Given the description of an element on the screen output the (x, y) to click on. 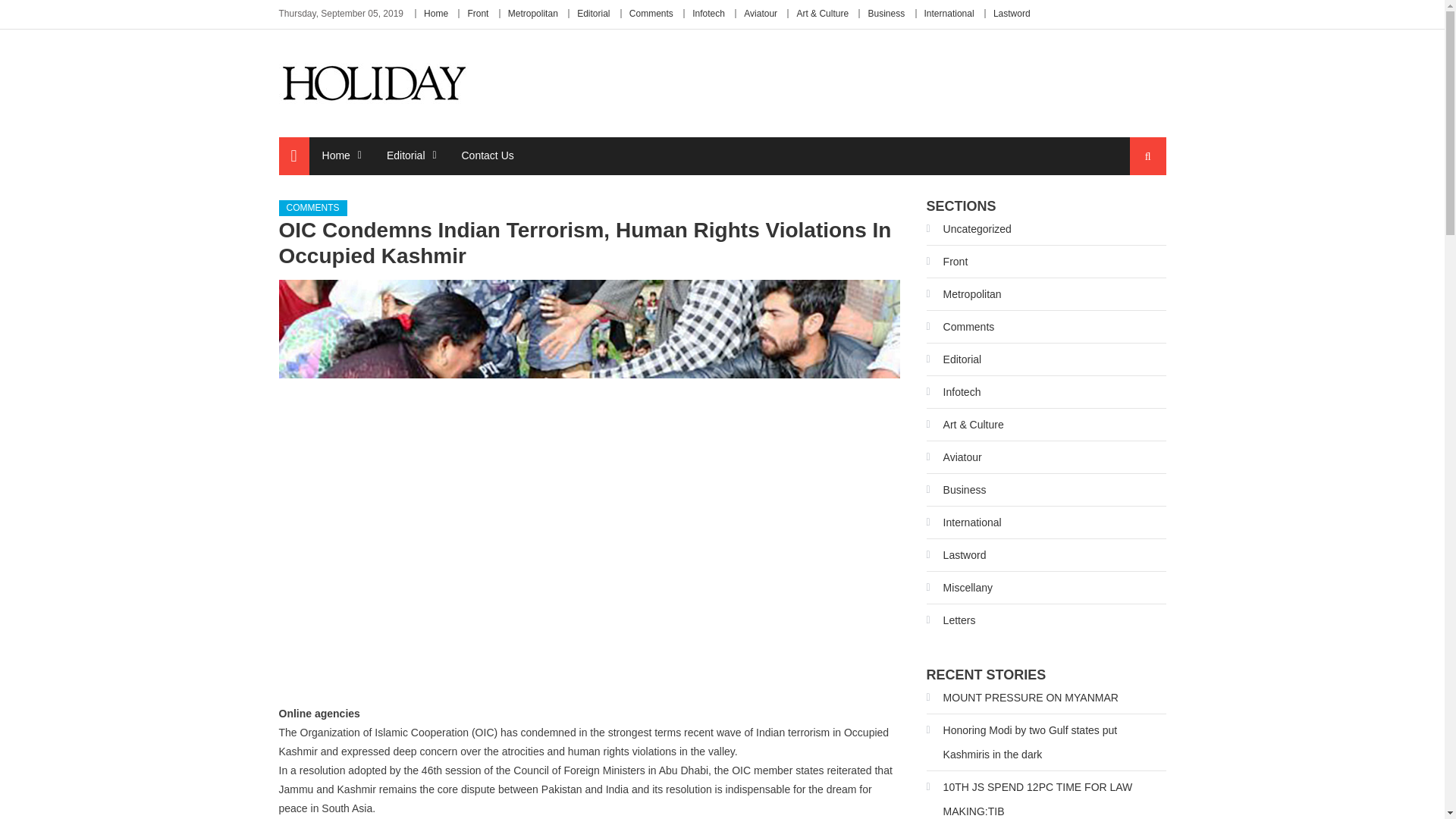
COMMENTS (313, 208)
Aviatour (760, 13)
Metropolitan (532, 13)
Front (477, 13)
Home (336, 155)
Metropolitan (963, 293)
Comments (650, 13)
Business (885, 13)
Lastword (1011, 13)
International (949, 13)
Uncategorized (968, 228)
Front (947, 261)
Contact Us (487, 155)
Infotech (709, 13)
Editorial (405, 155)
